Given the description of an element on the screen output the (x, y) to click on. 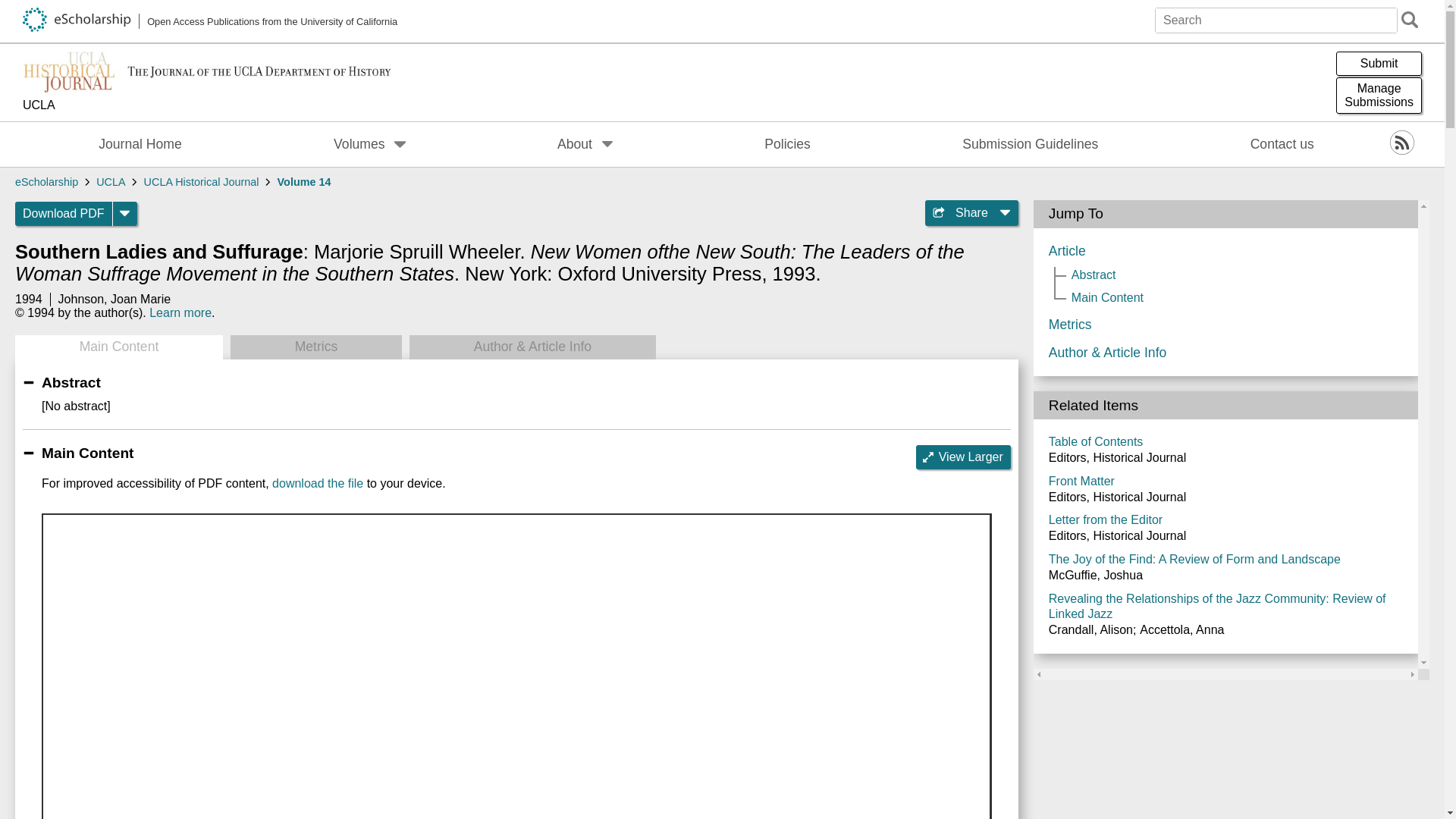
Submit (1379, 63)
UCLA (210, 105)
Open Access Publications from the University of California (210, 21)
Journal Home (139, 143)
